Given the description of an element on the screen output the (x, y) to click on. 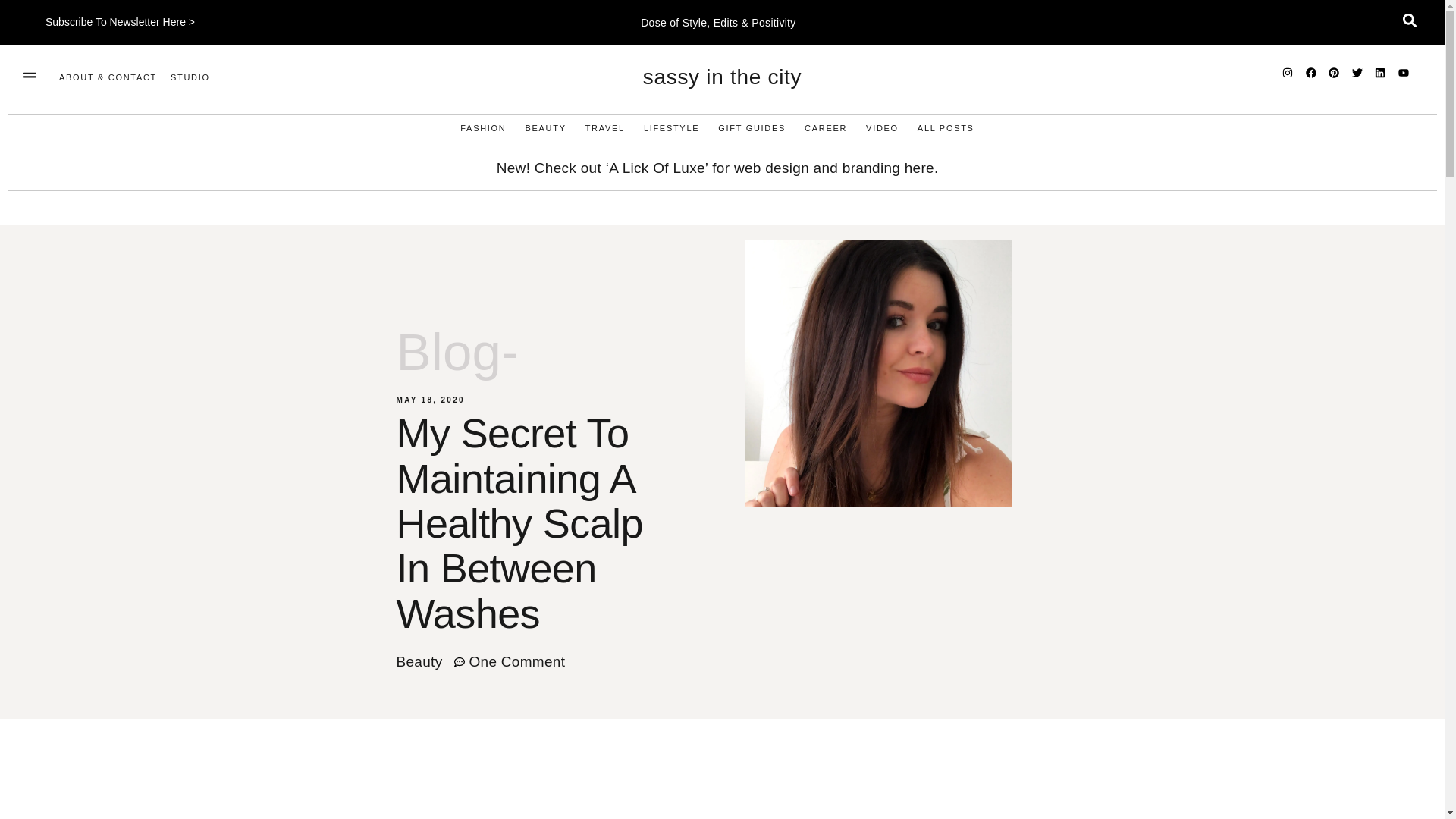
sassy in the city (722, 76)
TRAVEL (604, 128)
GIFT GUIDES (751, 128)
VIDEO (882, 128)
STUDIO (189, 77)
CAREER (826, 128)
FASHION (482, 128)
LIFESTYLE (670, 128)
ALL POSTS (945, 128)
BEAUTY (545, 128)
